Given the description of an element on the screen output the (x, y) to click on. 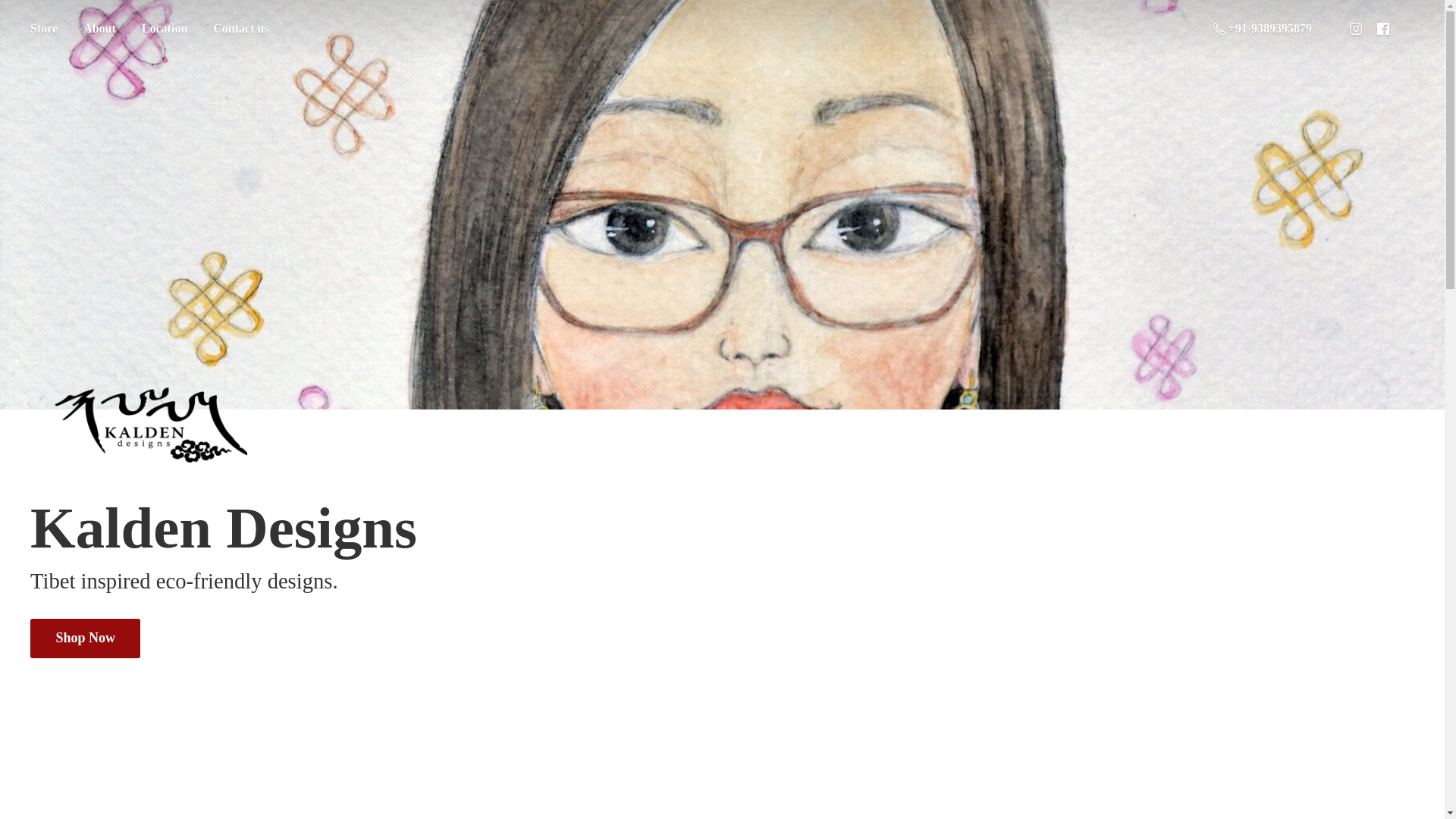
Store (43, 29)
Contact us (240, 29)
Shop Now (84, 638)
Location (164, 29)
About (99, 29)
